Given the description of an element on the screen output the (x, y) to click on. 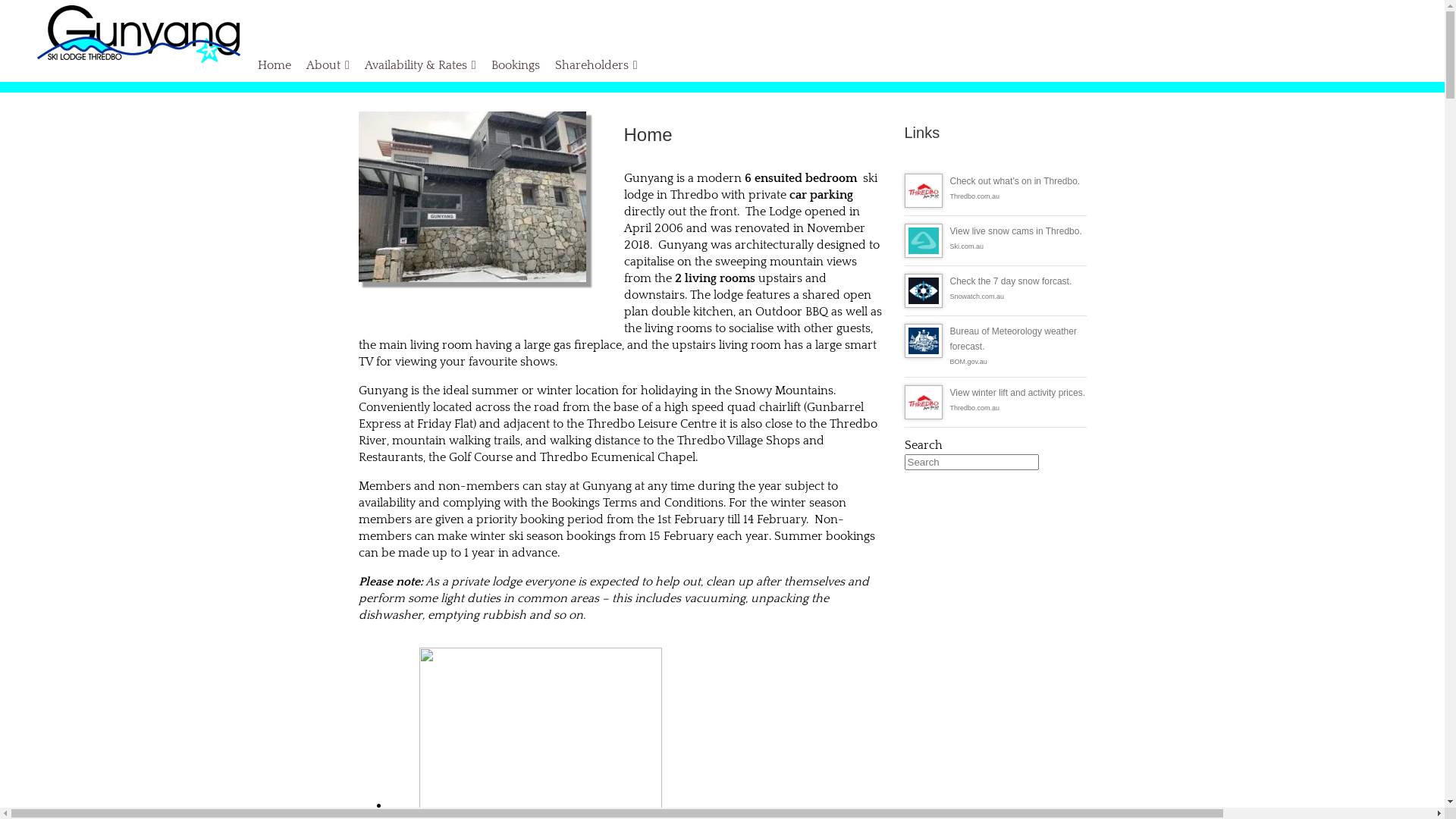
Check the 7 day snow forcast.
Snowatch.com.au Element type: text (994, 290)
Home Element type: text (274, 65)
About Element type: text (327, 65)
Availability & Rates Element type: text (420, 65)
Bureau of Meteorology weather forecast.
BOM.gov.au Element type: text (994, 347)
View winter lift and activity prices.
Thredbo.com.au Element type: text (994, 401)
View live snow cams in Thredbo.
Ski.com.au Element type: text (994, 239)
Bookings Element type: text (515, 65)
Shareholders Element type: text (596, 65)
